Given the description of an element on the screen output the (x, y) to click on. 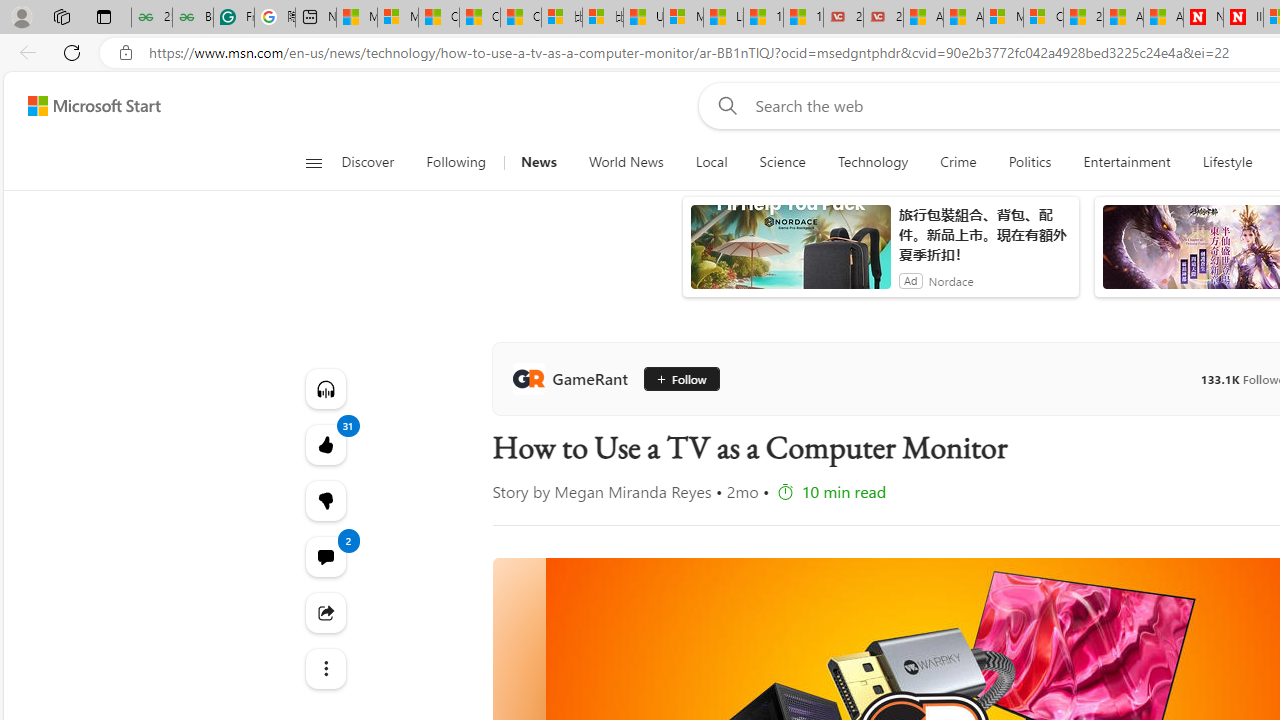
View comments 2 Comment (324, 556)
GameRant (574, 378)
31 Like (324, 444)
Lifestyle (1227, 162)
Follow (680, 378)
20 Ways to Boost Your Protein Intake at Every Meal (1083, 17)
Web search (724, 105)
Best SSL Certificates Provider in India - GeeksforGeeks (192, 17)
Illness news & latest pictures from Newsweek.com (1243, 17)
Lifestyle (1227, 162)
Entertainment (1126, 162)
